Given the description of an element on the screen output the (x, y) to click on. 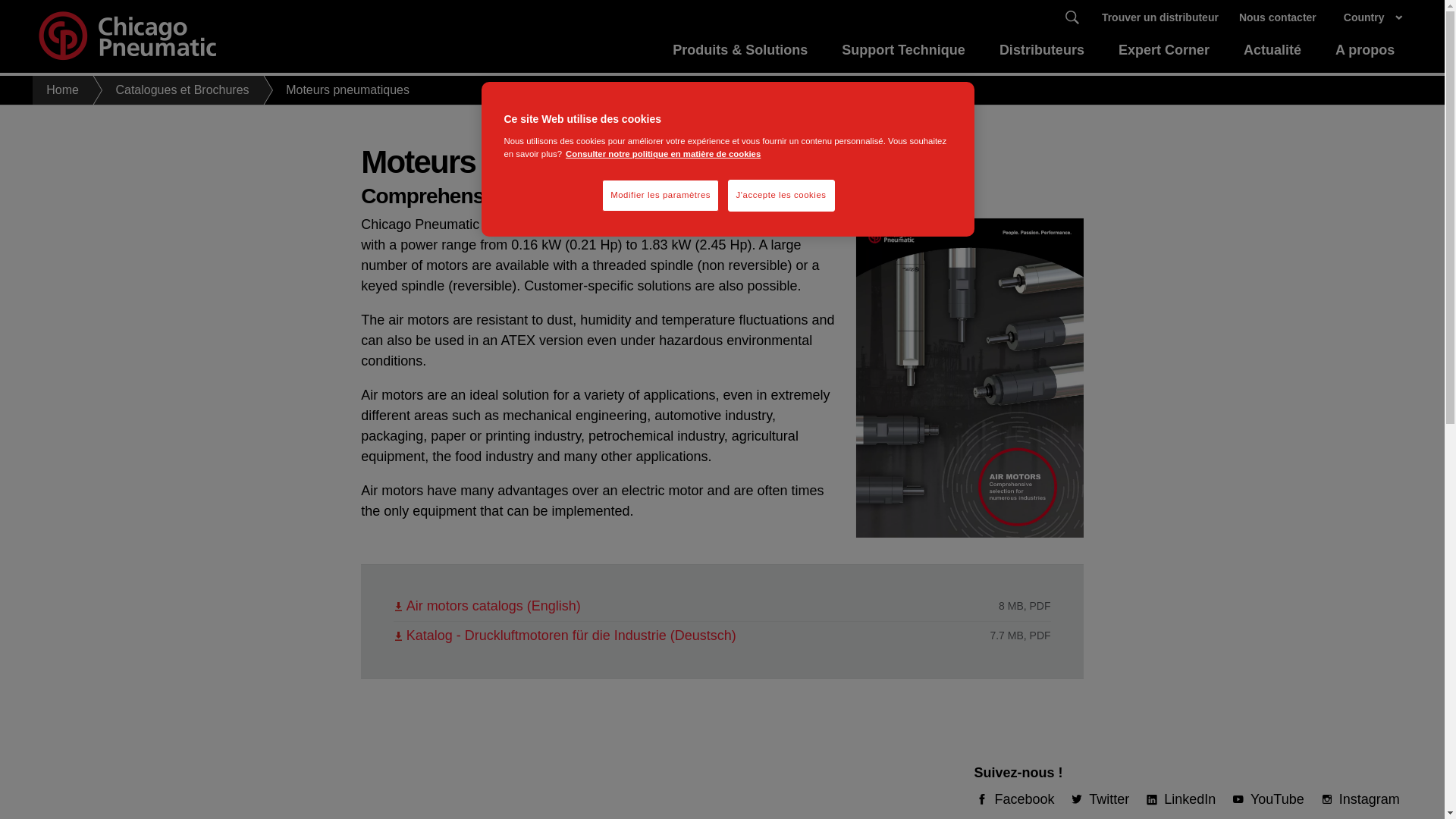
Chicago Pneumatic homepage (127, 36)
